Given the description of an element on the screen output the (x, y) to click on. 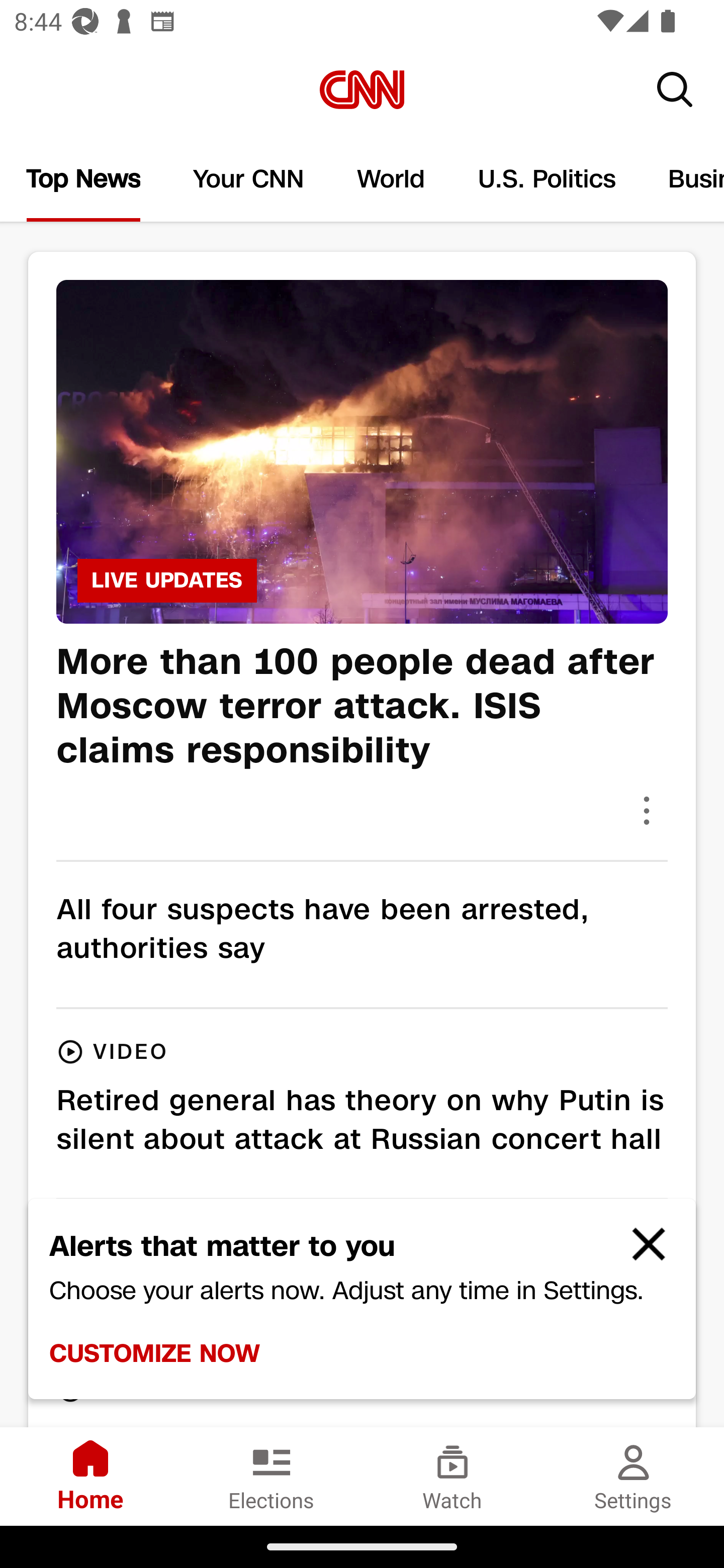
Your CNN (248, 179)
World (390, 179)
U.S. Politics (546, 179)
More actions (646, 810)
close (639, 1251)
Elections (271, 1475)
Watch (452, 1475)
Settings (633, 1475)
